Given the description of an element on the screen output the (x, y) to click on. 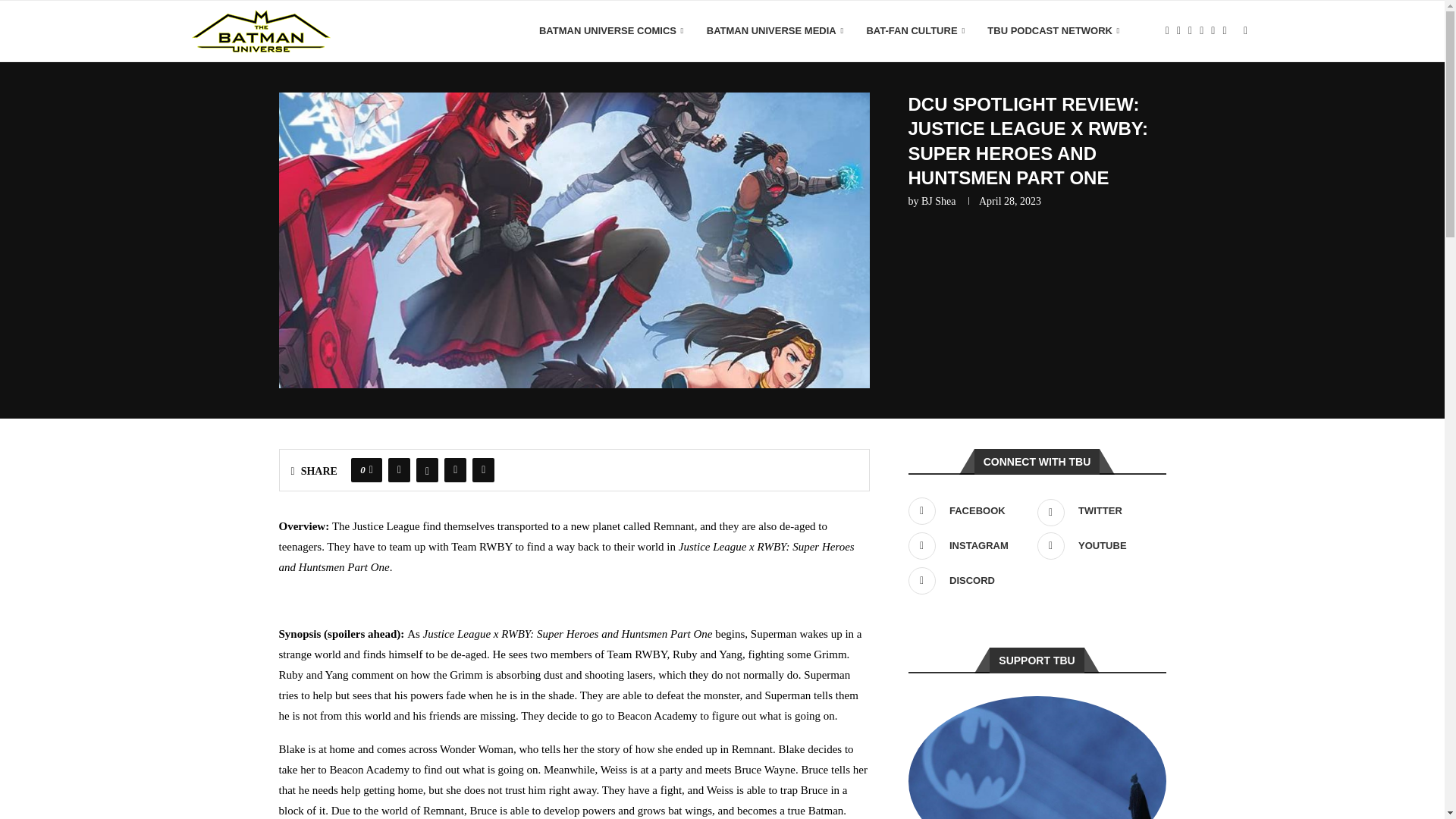
TBU PODCAST NETWORK (1053, 30)
BATMAN UNIVERSE COMICS (611, 30)
BAT-FAN CULTURE (914, 30)
BATMAN UNIVERSE MEDIA (775, 30)
